Given the description of an element on the screen output the (x, y) to click on. 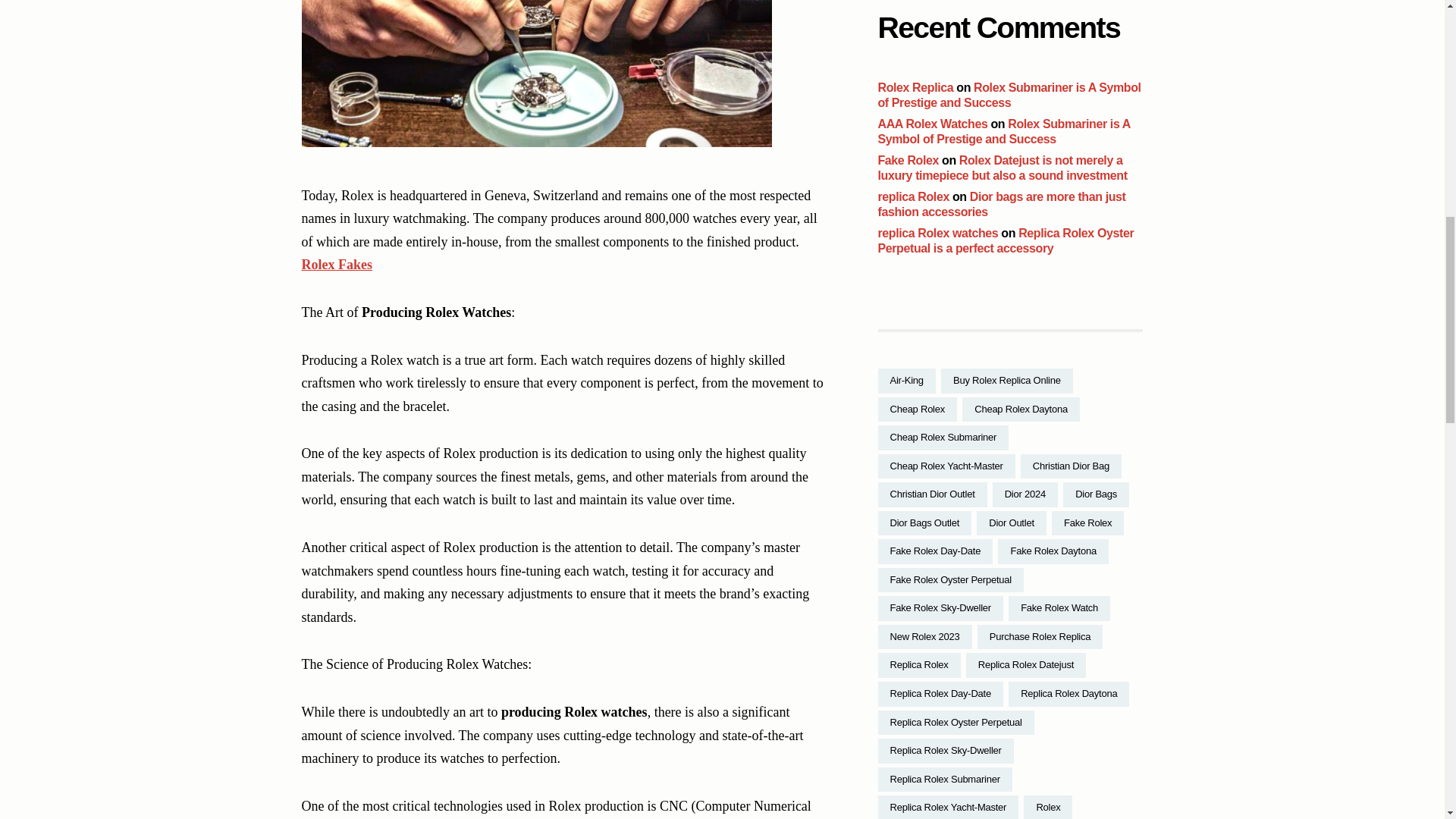
AAA Rolex Watches (932, 123)
replica Rolex (913, 196)
Air-King (906, 380)
Dior bags are more than just fashion accessories (1001, 204)
Replica Rolex Oyster Perpetual is a perfect accessory (1005, 240)
Buy Rolex Replica Online (1006, 380)
Rolex Submariner is A Symbol of Prestige and Success (1009, 94)
Cheap Rolex (917, 409)
Cheap Rolex Daytona (1021, 409)
Rolex Replica (915, 87)
Fake Rolex (908, 160)
replica Rolex watches (937, 232)
Rolex Submariner is A Symbol of Prestige and Success (1004, 131)
Rolex Fakes (336, 264)
